Given the description of an element on the screen output the (x, y) to click on. 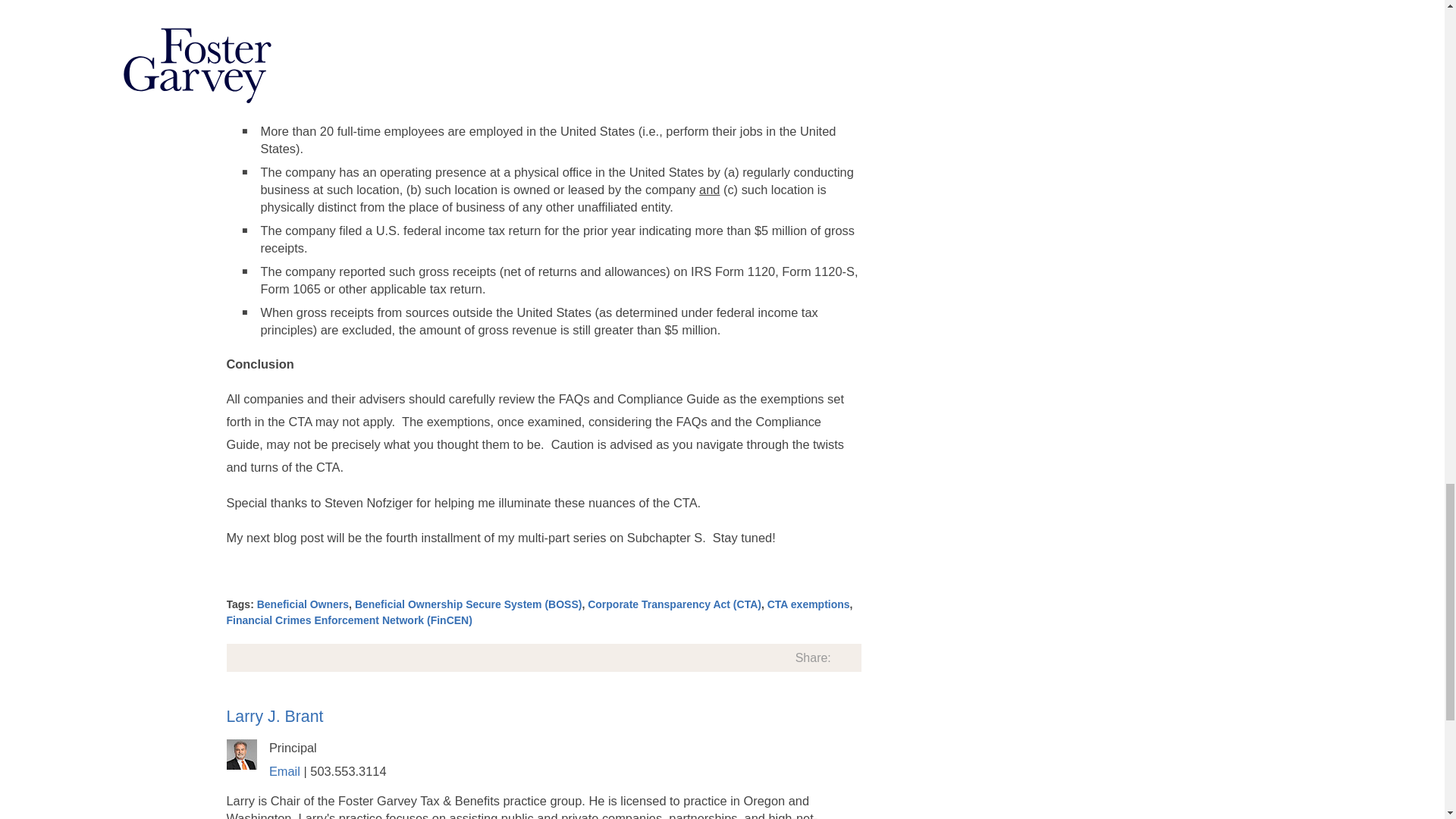
503.553.3114 (347, 771)
CTA exemptions (808, 604)
Email (284, 771)
Beneficial Owners (303, 604)
Larry J. Brant (274, 716)
